Given the description of an element on the screen output the (x, y) to click on. 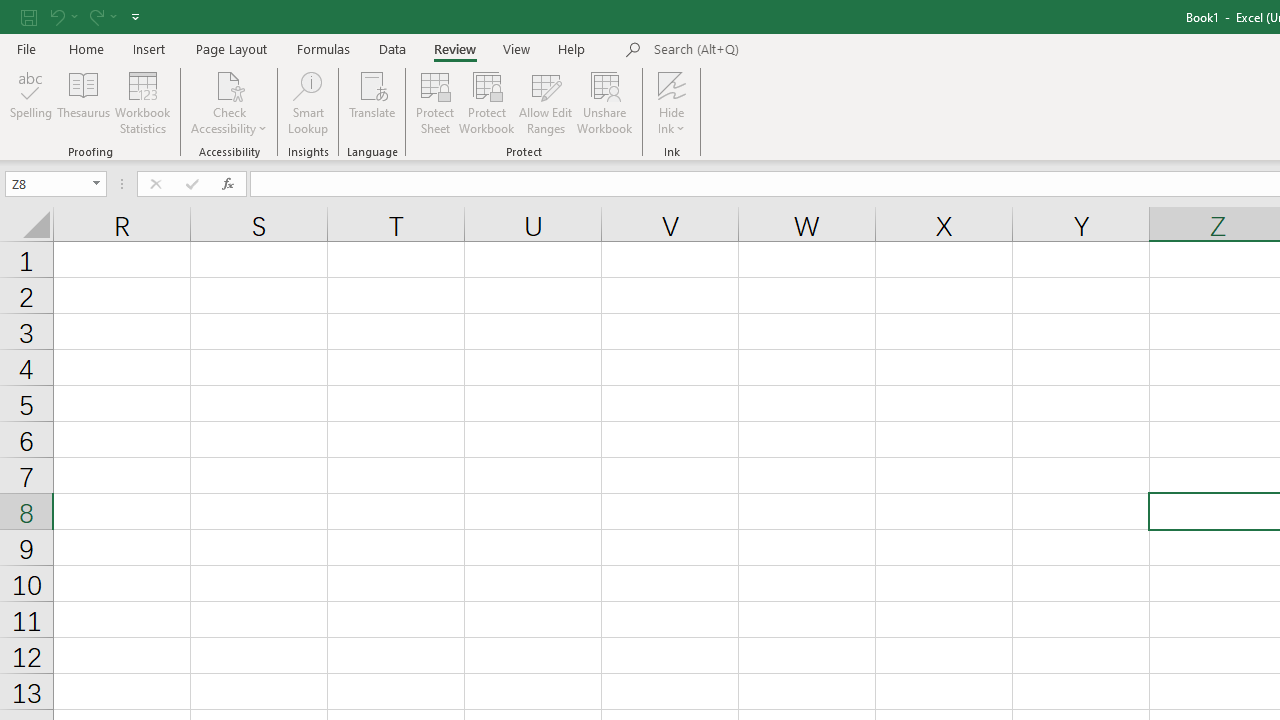
Hide Ink (671, 102)
Protect Sheet... (434, 102)
Check Accessibility (229, 84)
Smart Lookup (308, 102)
Check Accessibility (229, 102)
Hide Ink (671, 84)
Workbook Statistics (142, 102)
